Given the description of an element on the screen output the (x, y) to click on. 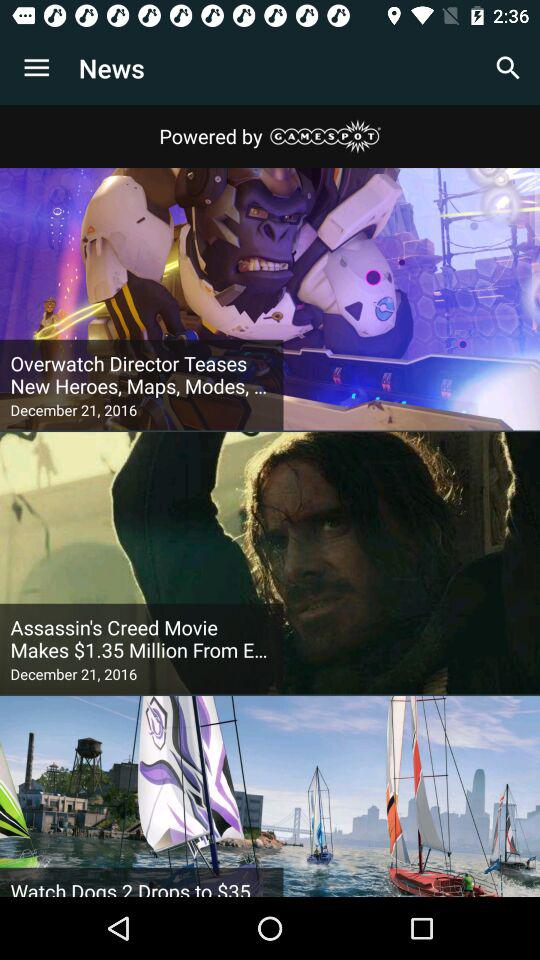
open the assassin s creed icon (141, 639)
